Given the description of an element on the screen output the (x, y) to click on. 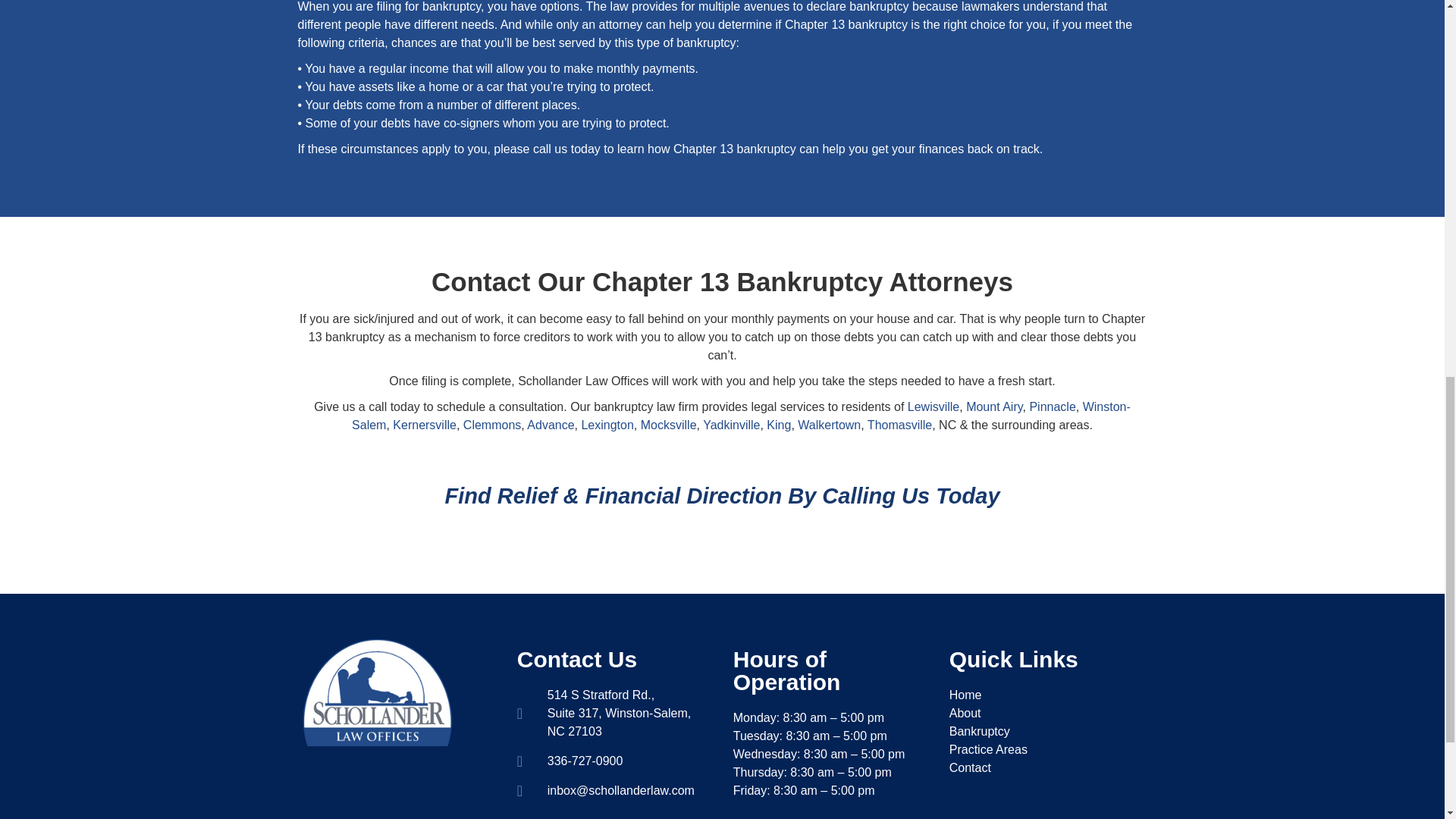
Lexington (606, 424)
Advance (550, 424)
Mocksville (668, 424)
Pinnacle (1052, 406)
Lewisville (933, 406)
Home (1046, 695)
Winston-Salem (741, 415)
Walkertown (828, 424)
Thomasville (899, 424)
Kernersville (425, 424)
